Given the description of an element on the screen output the (x, y) to click on. 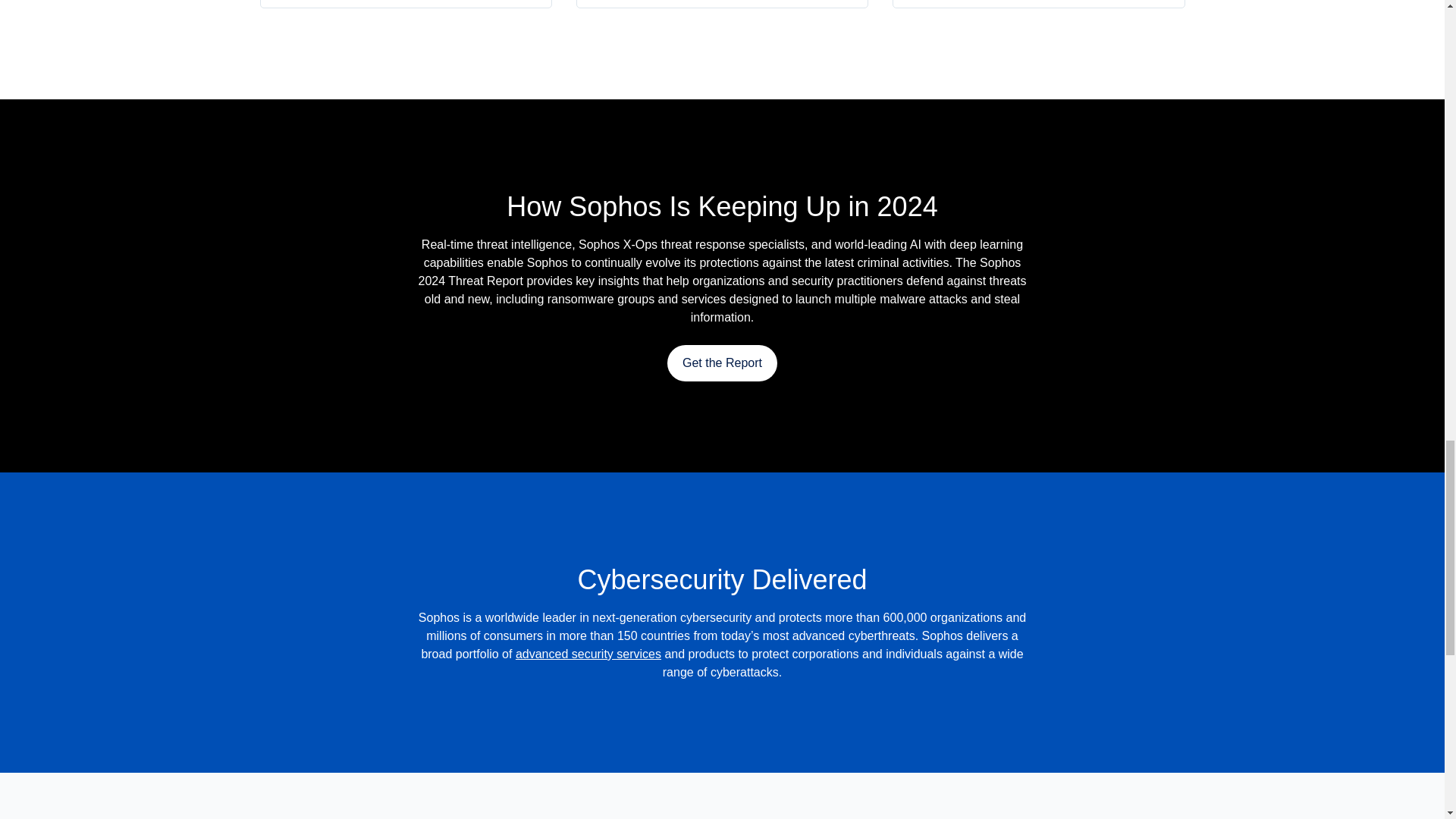
MDR Security Services (588, 653)
